Given the description of an element on the screen output the (x, y) to click on. 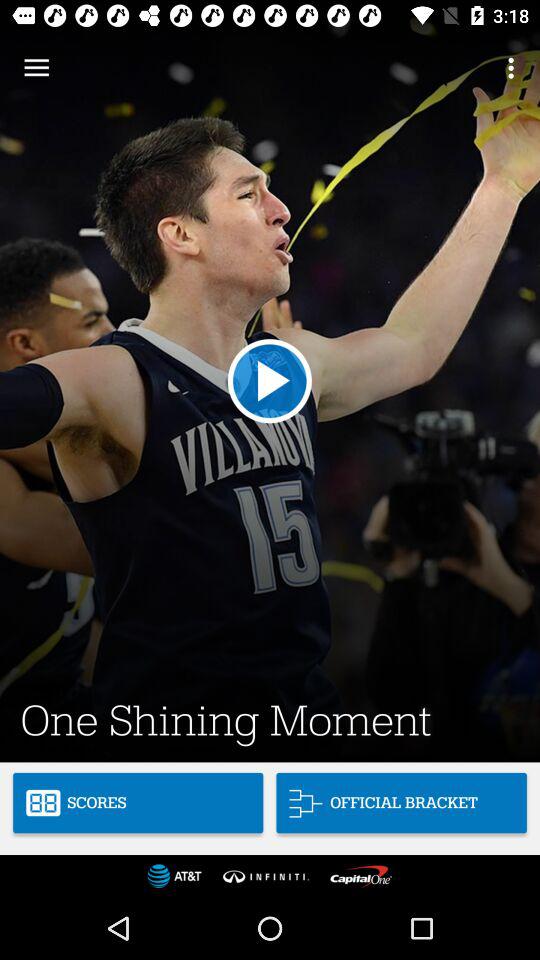
launch icon at the top right corner (513, 67)
